Given the description of an element on the screen output the (x, y) to click on. 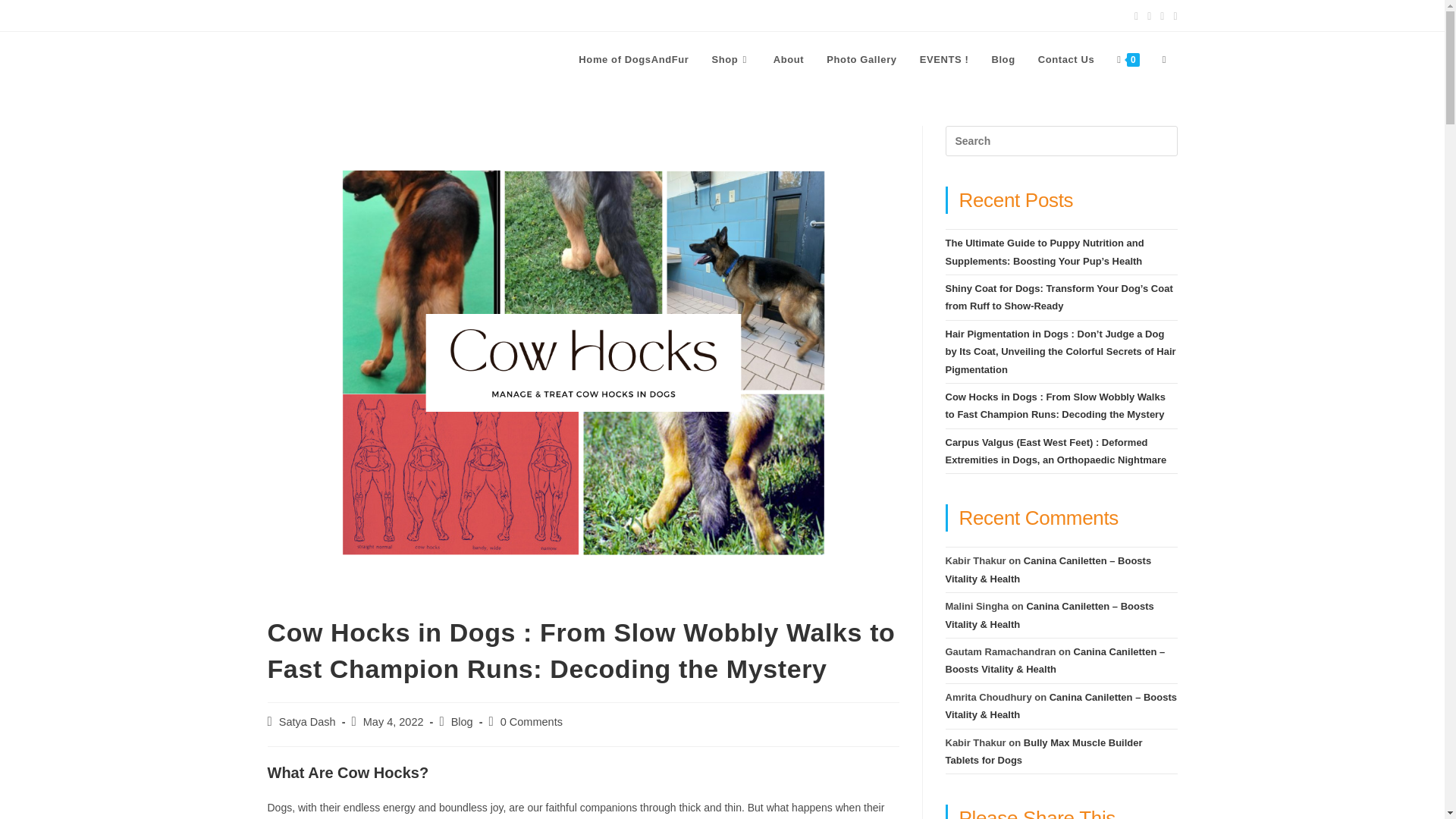
Shop (730, 59)
My Account (296, 15)
EVENTS ! (943, 59)
Contact Us (1066, 59)
Posts by Satya Dash (307, 721)
About (788, 59)
Photo Gallery (861, 59)
Shop Now (414, 15)
Home of DogsAndFur (633, 59)
My Cart (357, 15)
